Given the description of an element on the screen output the (x, y) to click on. 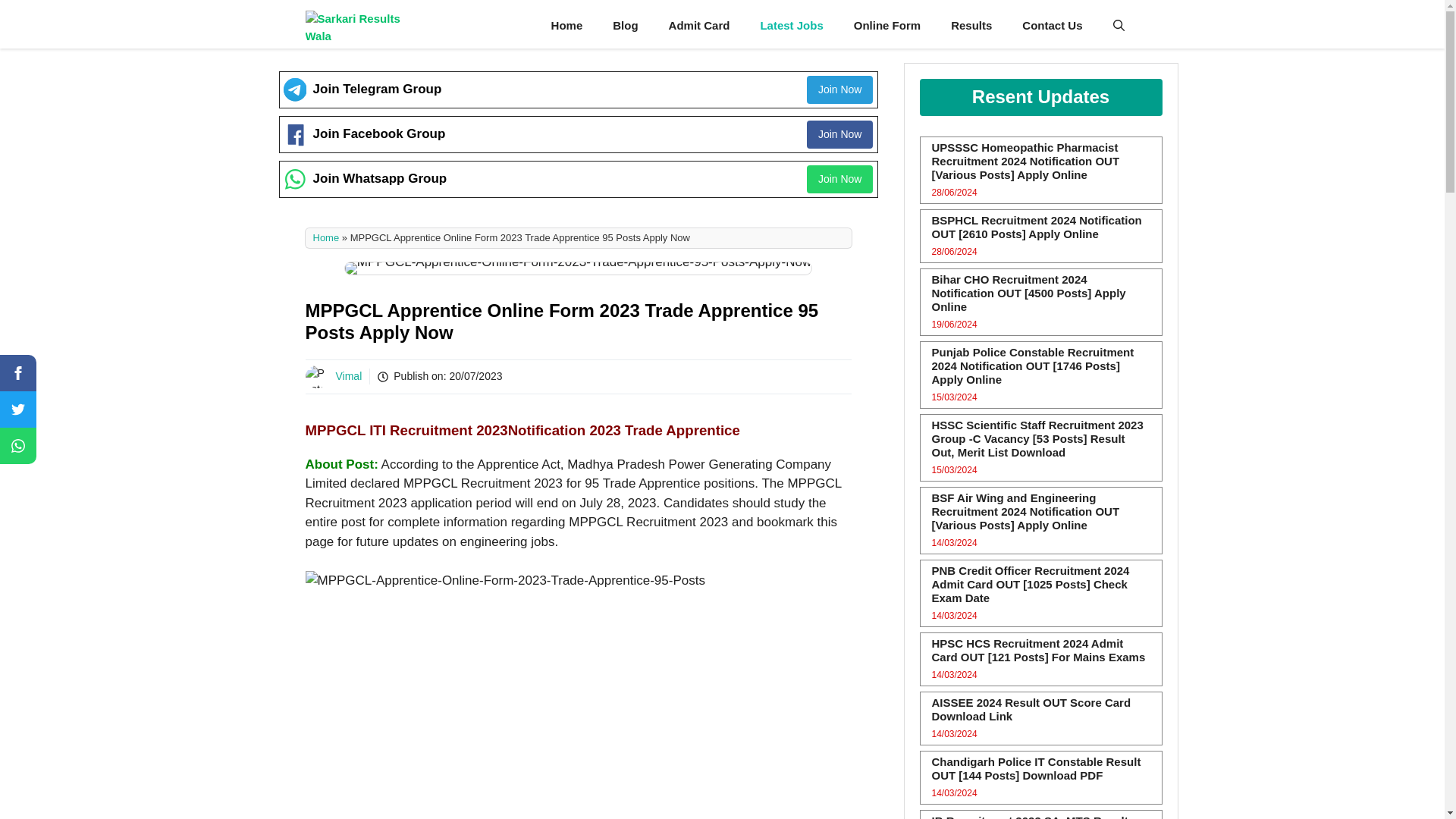
Join Now (839, 90)
Latest Jobs (791, 25)
Home (326, 237)
Join Now (839, 134)
Contact Us (1052, 25)
Home (566, 25)
Blog (624, 25)
Join Now (839, 179)
Results (971, 25)
Admit Card (699, 25)
Vimal (347, 376)
Sarkari Results Wala (363, 25)
Online Form (887, 25)
